Given the description of an element on the screen output the (x, y) to click on. 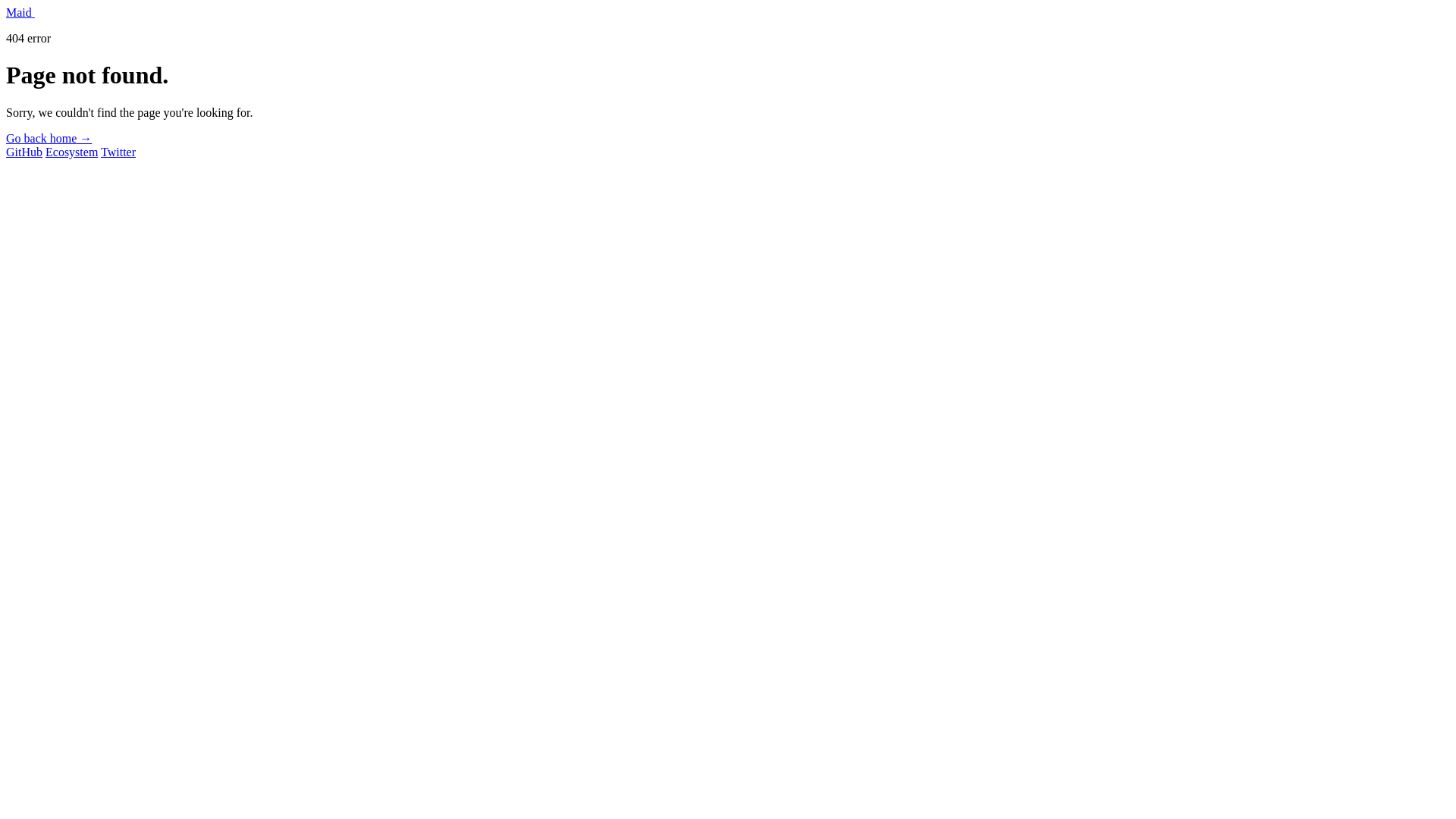
Twitter Element type: text (117, 151)
GitHub Element type: text (24, 151)
Maid Element type: text (20, 12)
Ecosystem Element type: text (71, 151)
